Given the description of an element on the screen output the (x, y) to click on. 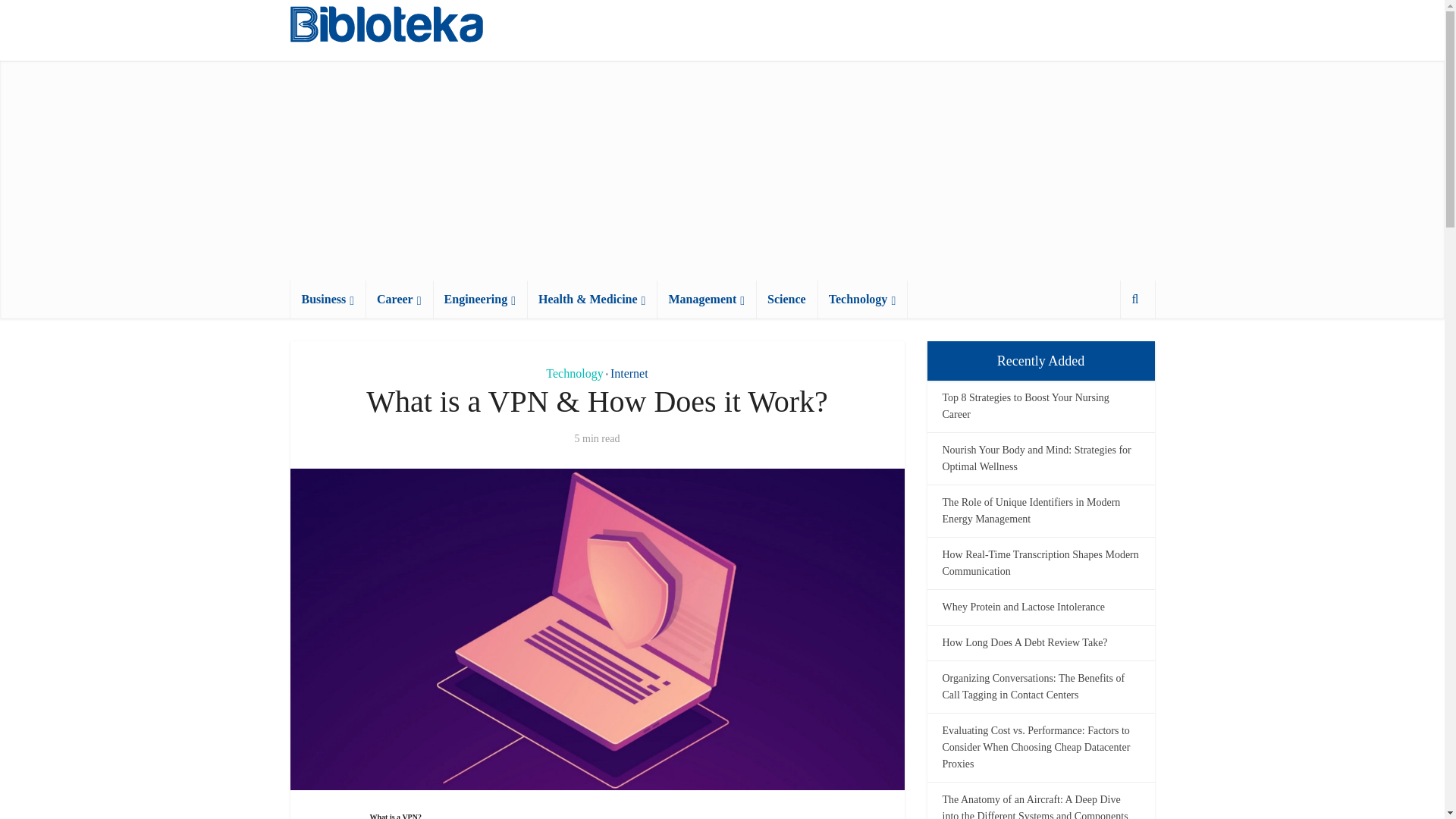
Technology (861, 299)
Technology (574, 373)
Management (705, 299)
Science (785, 299)
Engineering (479, 299)
Business (327, 299)
Internet (628, 373)
Career (398, 299)
